Given the description of an element on the screen output the (x, y) to click on. 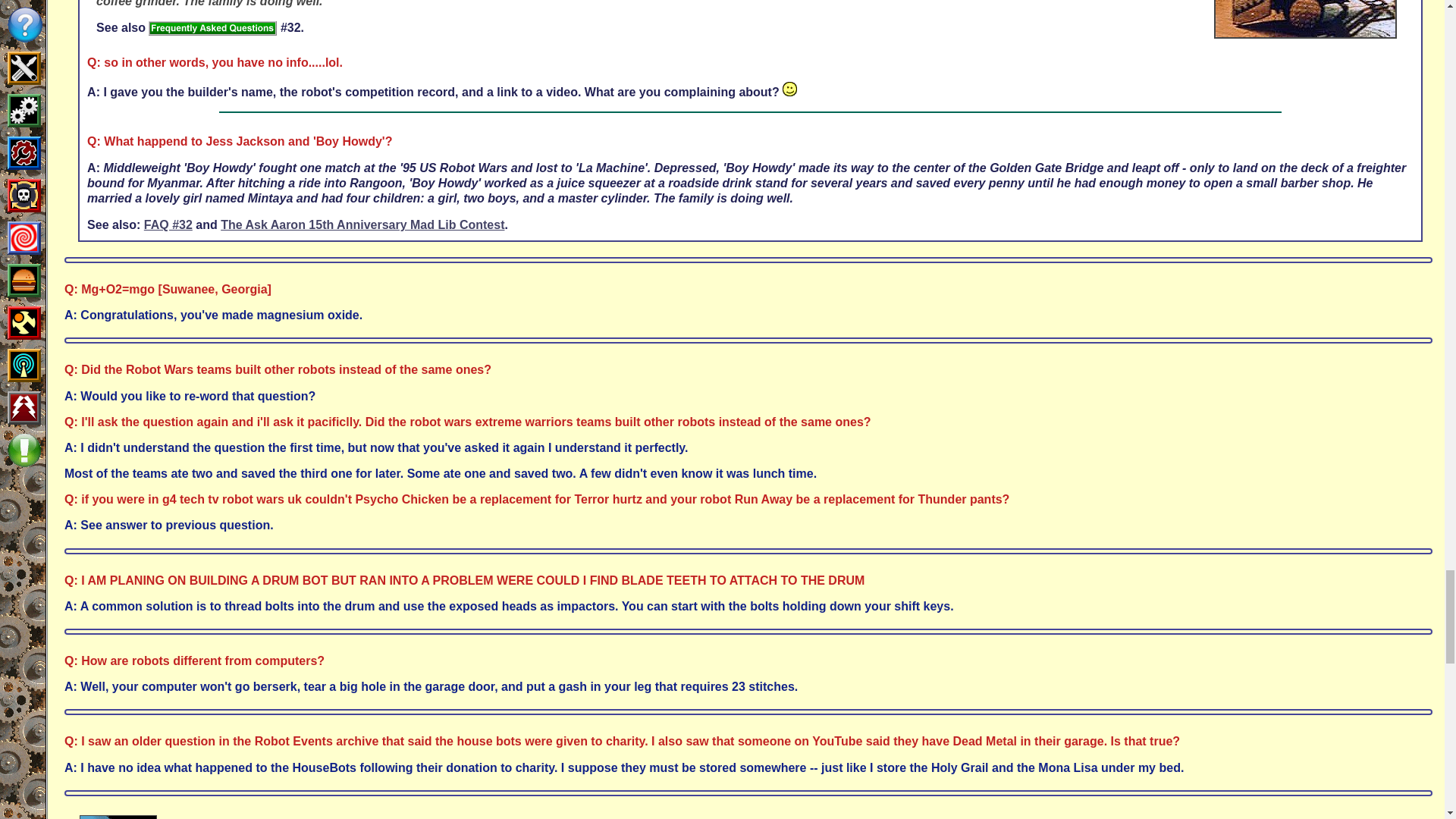
The Ask Aaron 15th Anniversary Mad Lib Contest (362, 224)
